Given the description of an element on the screen output the (x, y) to click on. 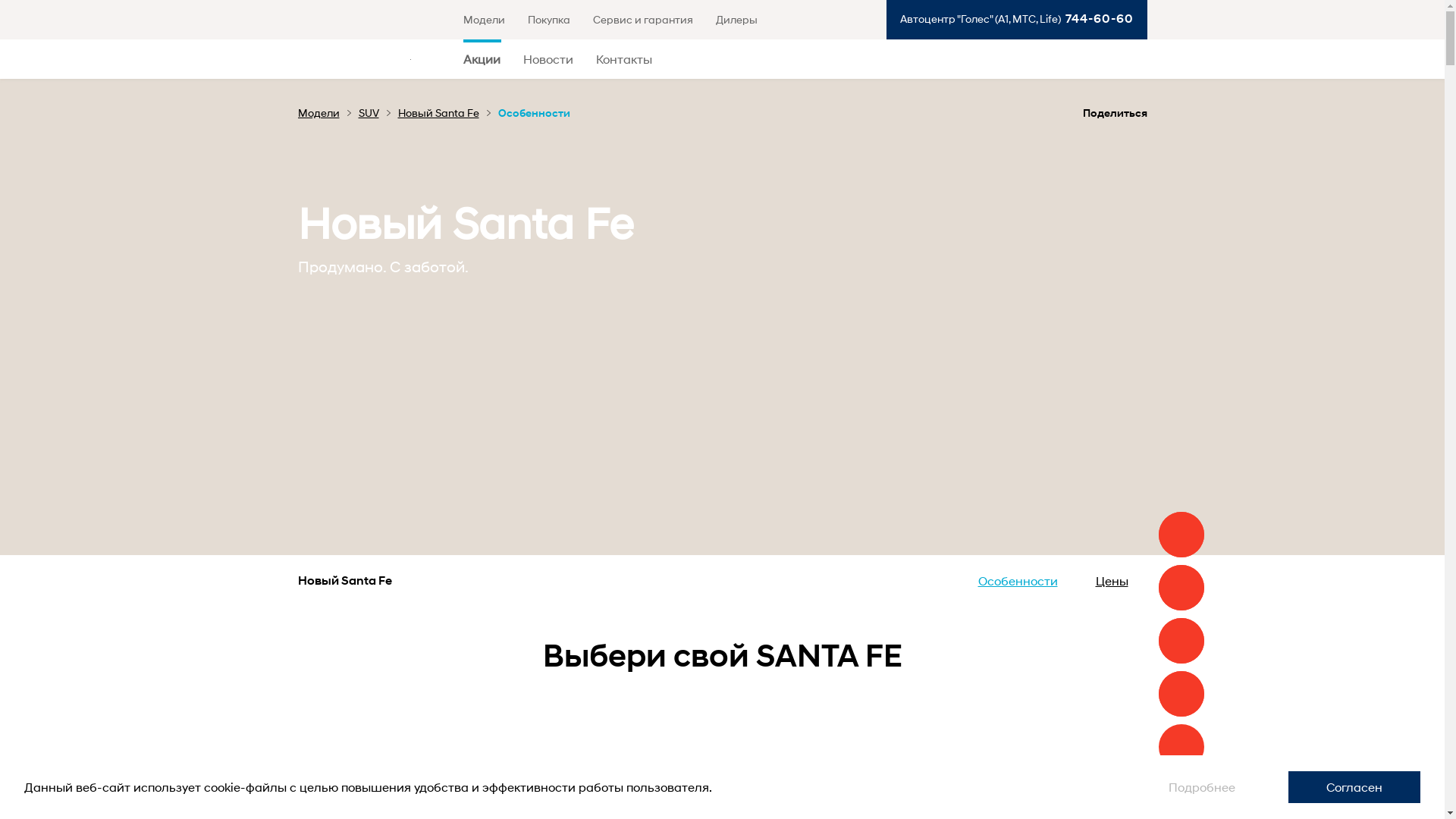
SUV Element type: text (373, 112)
744-60-60 Element type: text (1096, 18)
